Given the description of an element on the screen output the (x, y) to click on. 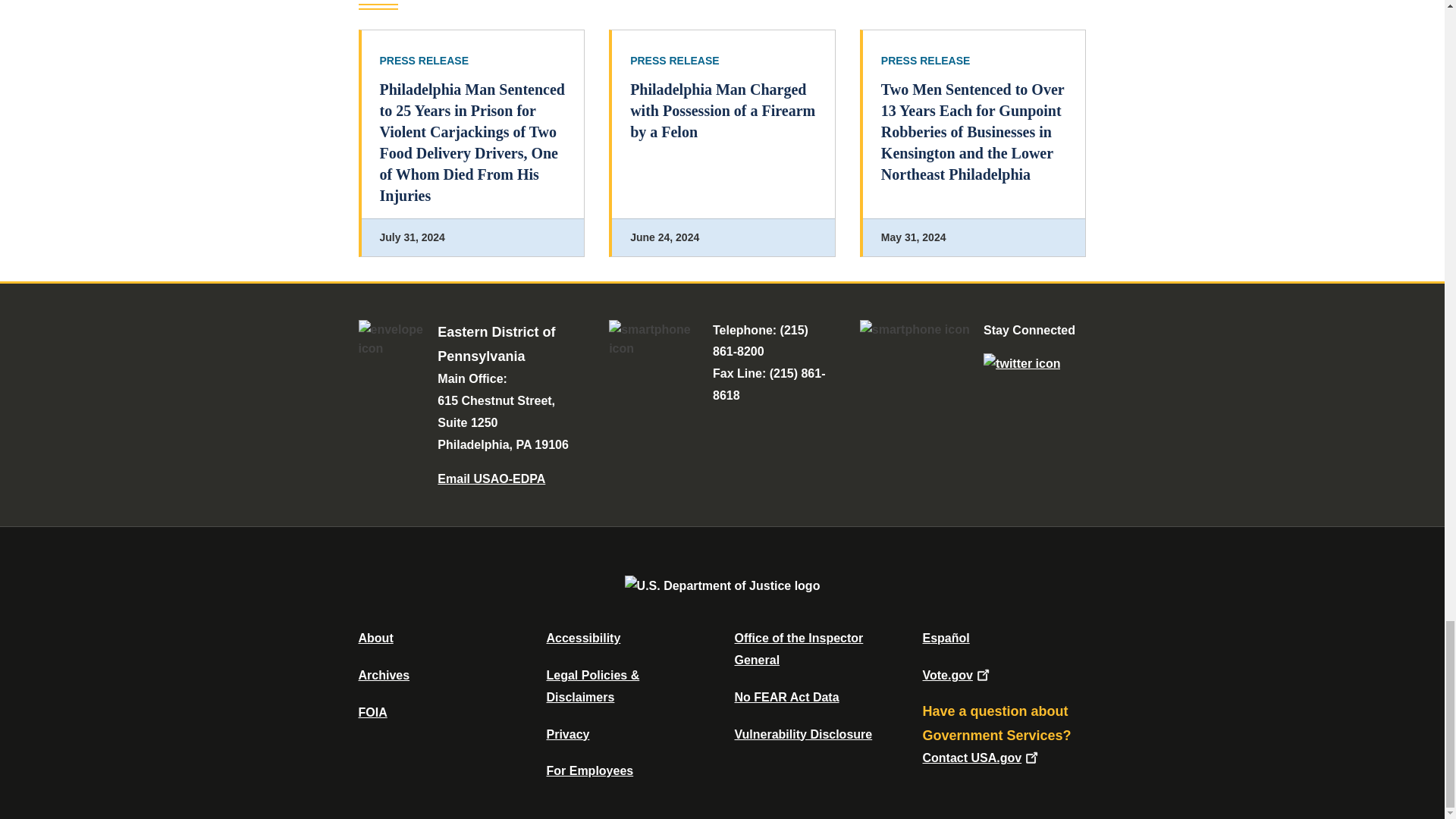
Data Posted Pursuant To The No Fear Act (785, 697)
About DOJ (375, 637)
Legal Policies and Disclaimers (592, 686)
Office of Information Policy (372, 712)
For Employees (589, 770)
Department of Justice Archive (383, 675)
Accessibility Statement (583, 637)
